Given the description of an element on the screen output the (x, y) to click on. 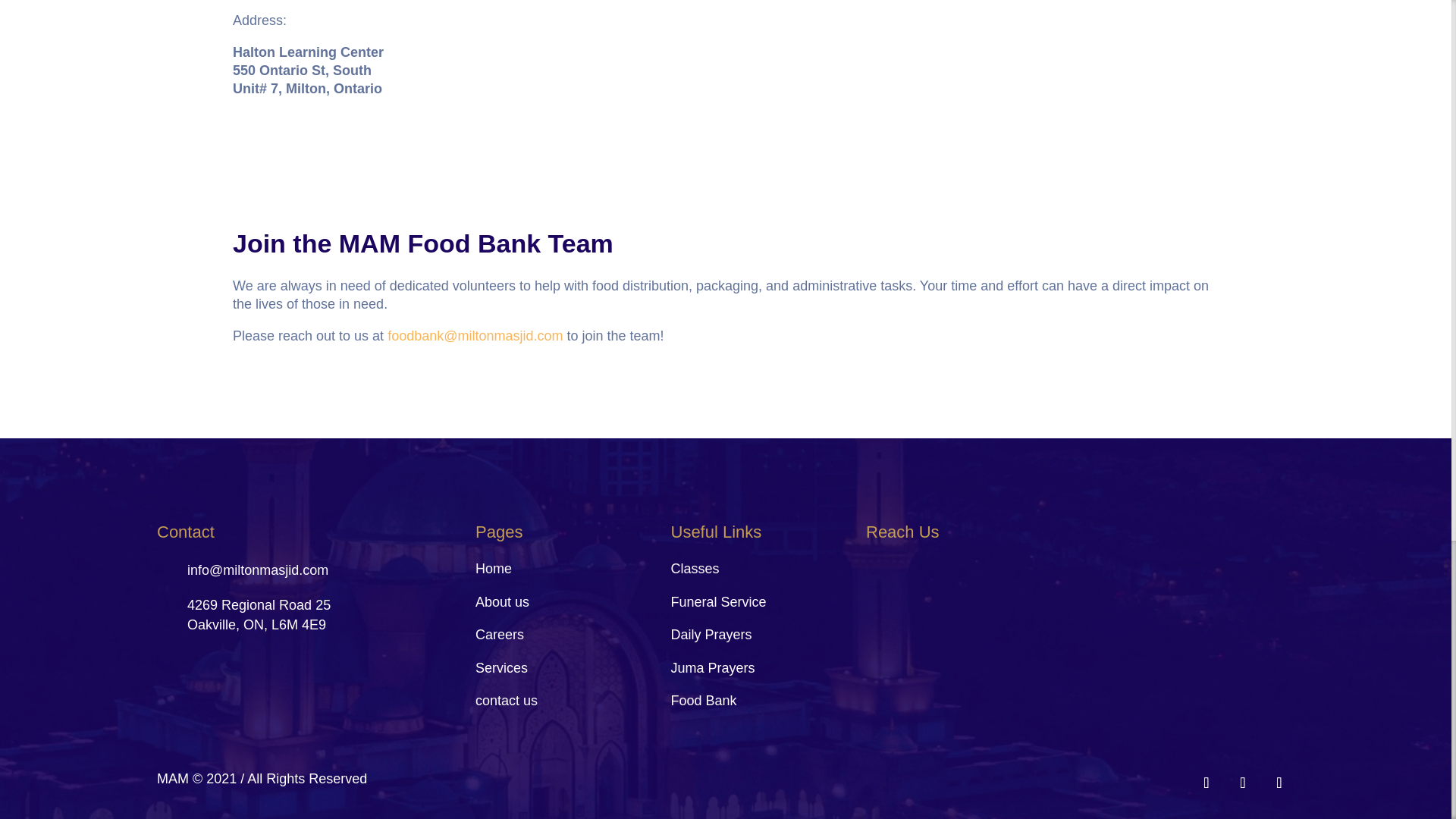
Follow on Youtube (1242, 782)
Follow on X (1278, 782)
Follow on Facebook (1206, 782)
